Given the description of an element on the screen output the (x, y) to click on. 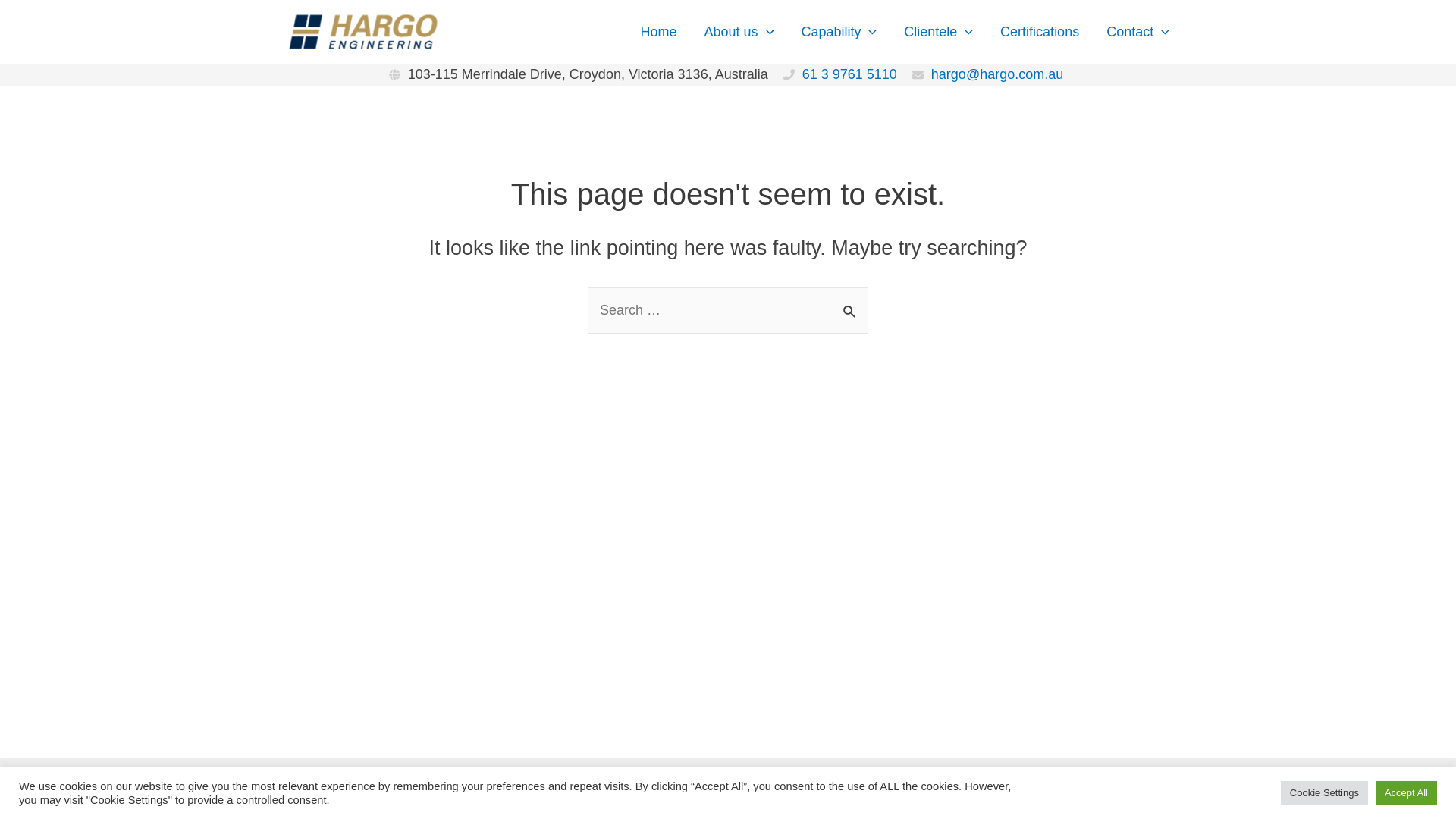
Mentor Element type: text (842, 789)
Cookie Settings Element type: text (1324, 792)
Capability Element type: text (838, 31)
61 3 9761 5110 Element type: text (849, 73)
Certifications Element type: text (1039, 31)
Clientele Element type: text (938, 31)
hargo@hargo.com.au Element type: text (997, 73)
About us Element type: text (738, 31)
Search Element type: text (851, 303)
Contact Element type: text (1137, 31)
Accept All Element type: text (1406, 792)
Home Element type: text (658, 31)
